Given the description of an element on the screen output the (x, y) to click on. 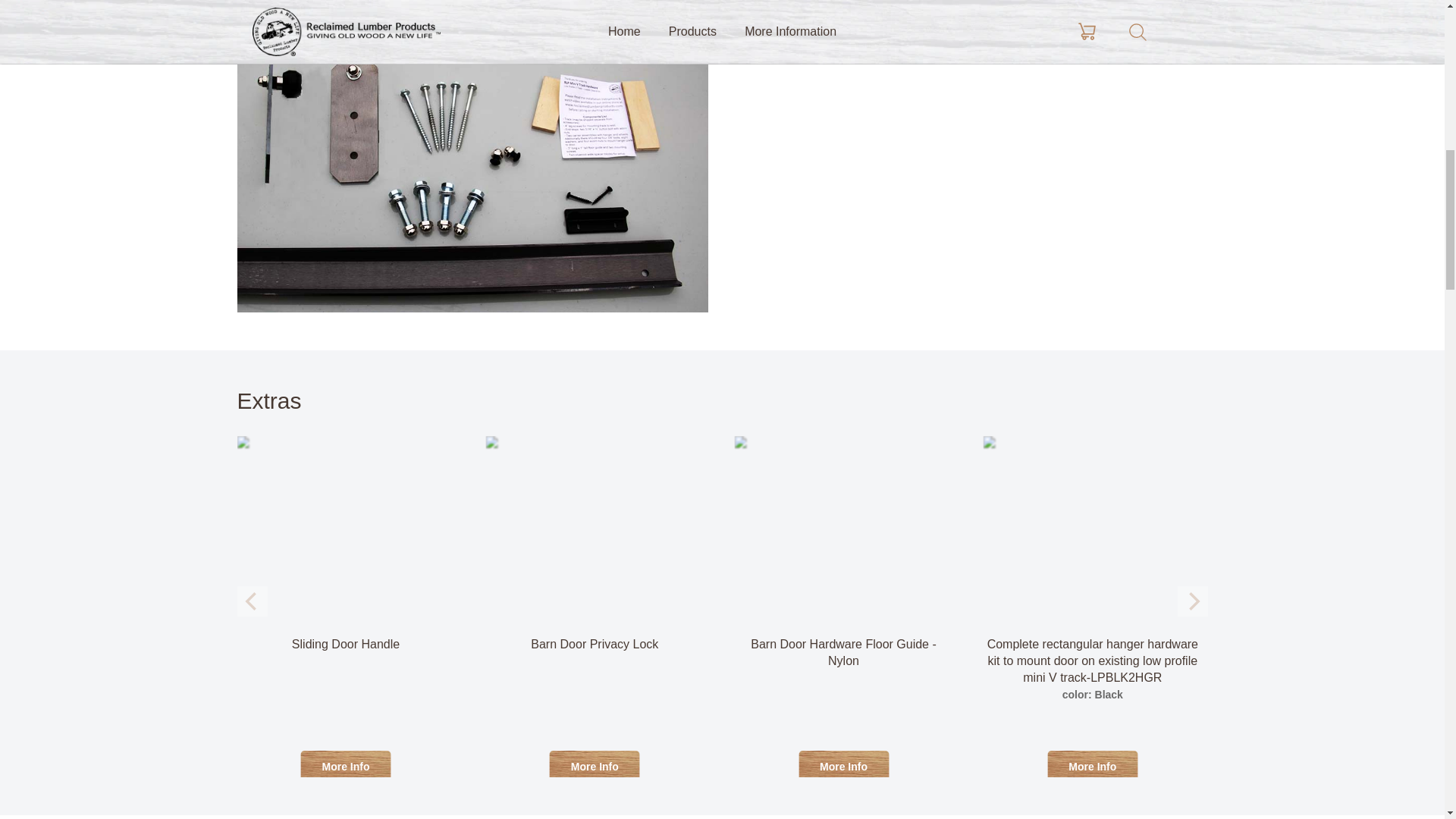
1 (850, 2)
